Given the description of an element on the screen output the (x, y) to click on. 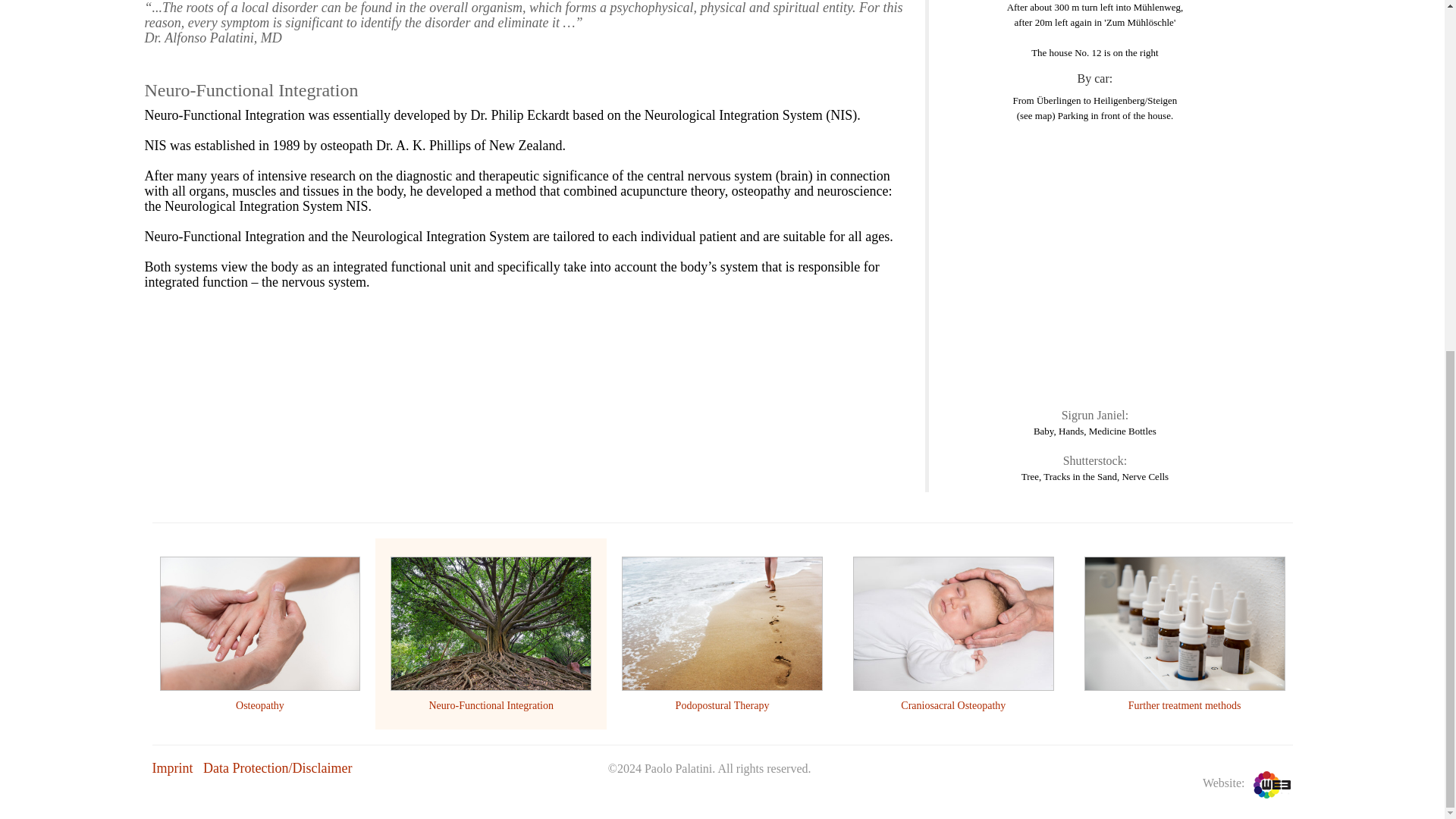
Further treatment methods (1184, 705)
Craniosacral Osteopathy (953, 705)
Imprint (171, 767)
Osteopathy (259, 705)
Neuro-Functional Integration (490, 705)
Podopostural Therapy (722, 705)
